Given the description of an element on the screen output the (x, y) to click on. 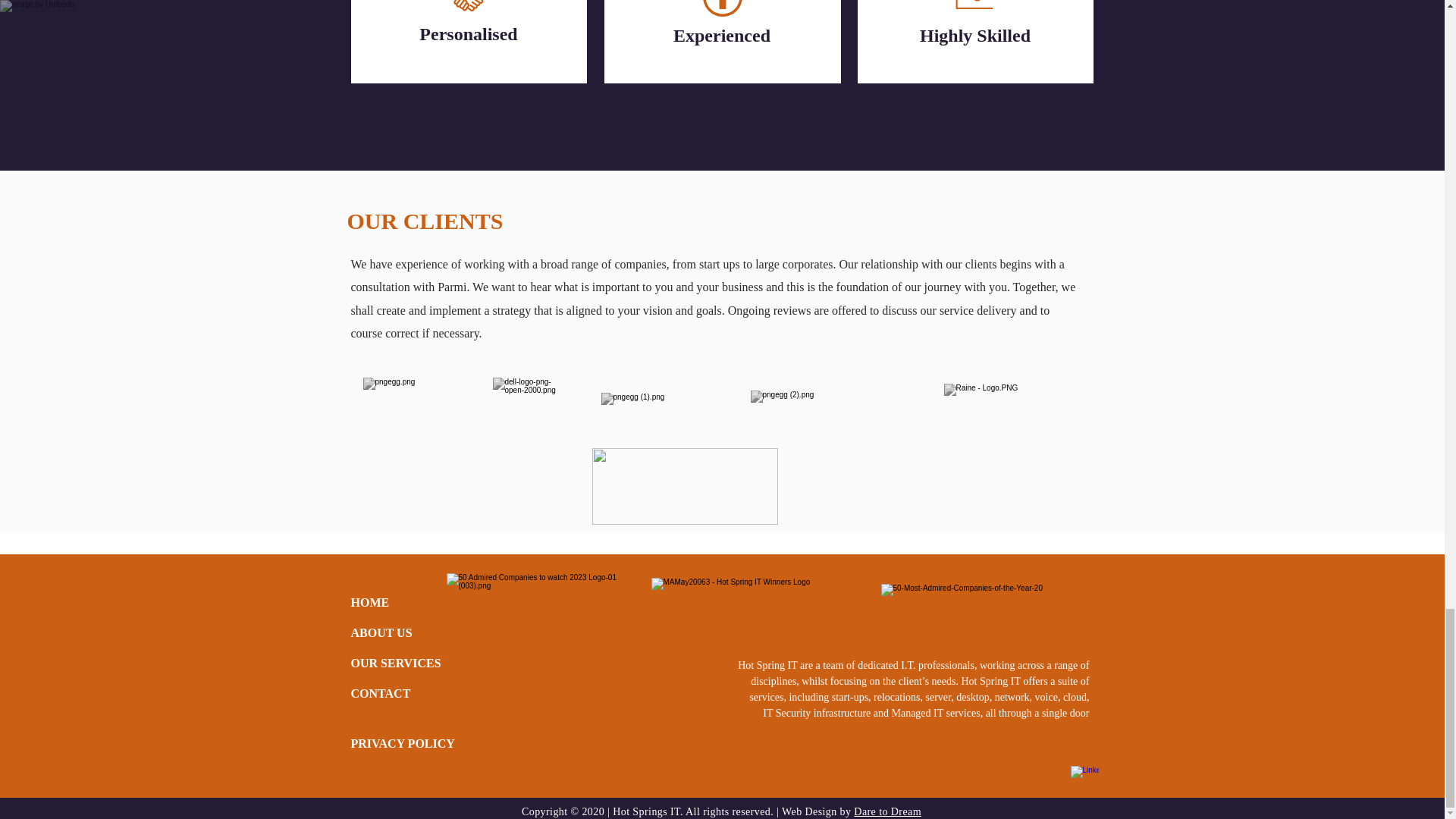
Mayfair Equity Partners .png (684, 485)
